Given the description of an element on the screen output the (x, y) to click on. 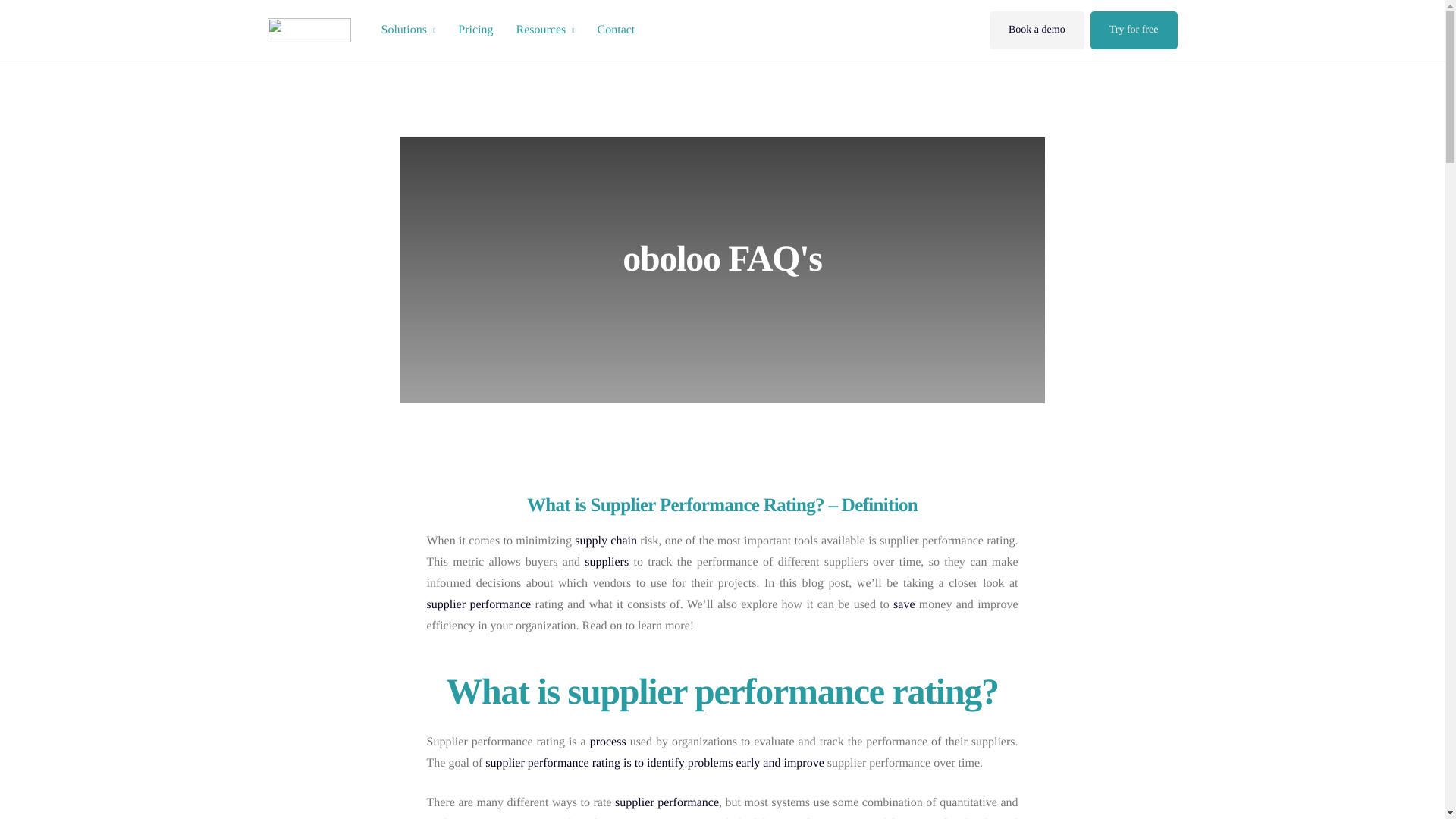
supplier performance (666, 802)
supplier performance (478, 603)
Pricing (475, 30)
process (607, 741)
save (903, 603)
supply chain (606, 540)
Contact (615, 30)
suppliers (606, 561)
Try for free (1133, 30)
